Given the description of an element on the screen output the (x, y) to click on. 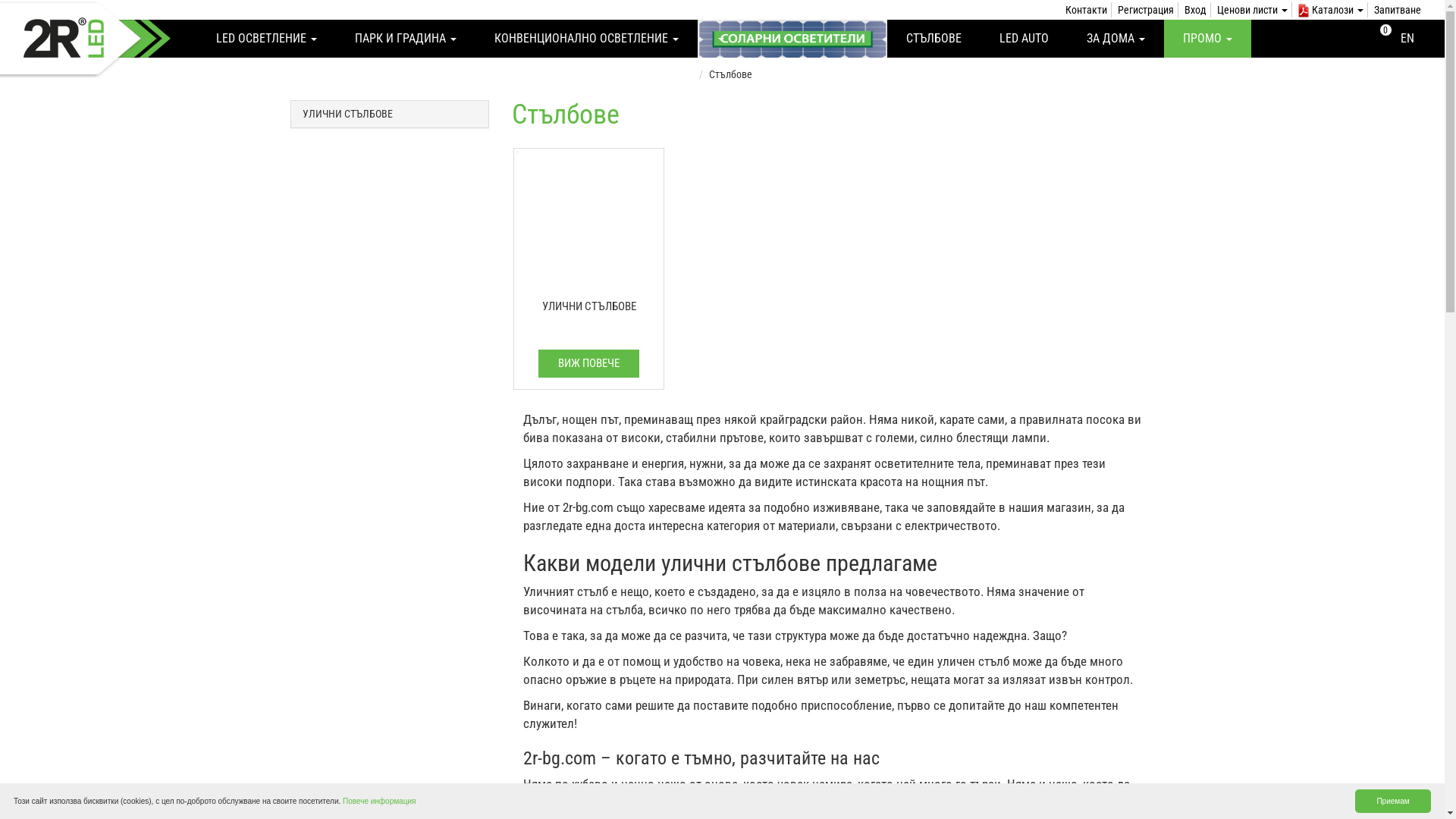
LED AUTO Element type: text (1023, 38)
EN Element type: text (1407, 38)
